Given the description of an element on the screen output the (x, y) to click on. 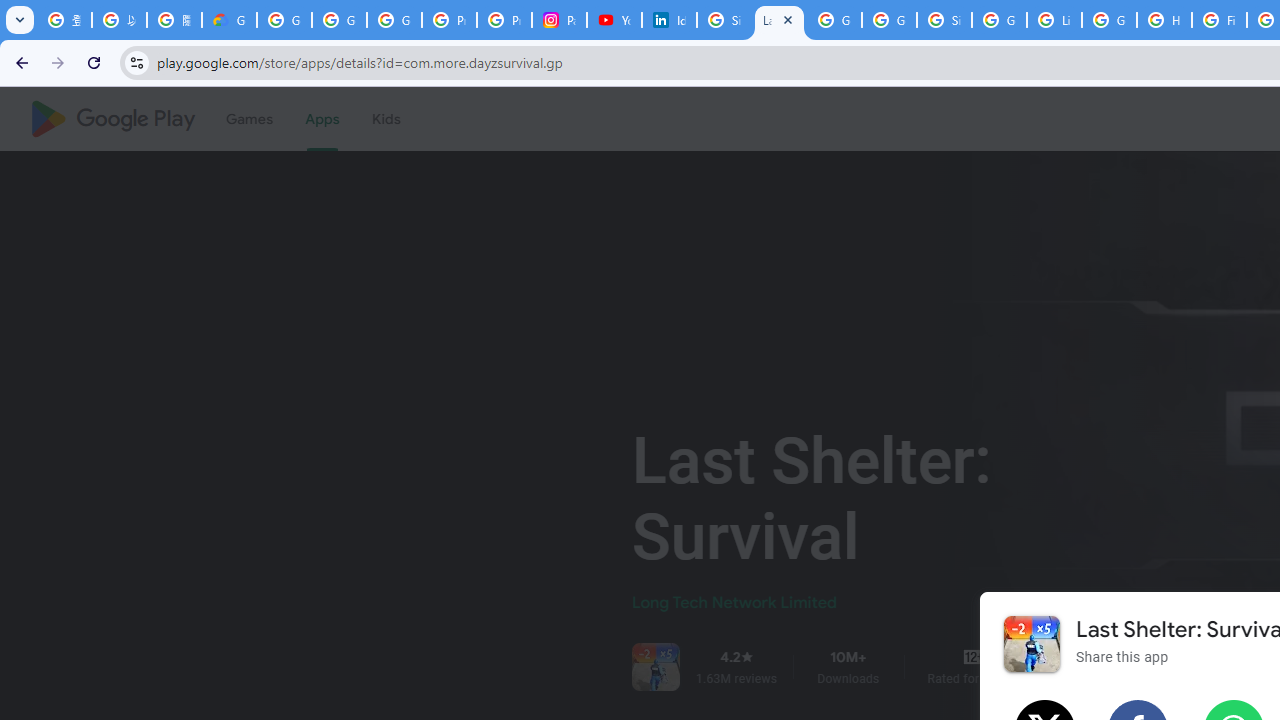
Last Shelter: Survival - Apps on Google Play (779, 20)
How do I create a new Google Account? - Google Account Help (1163, 20)
Sign in - Google Accounts (943, 20)
Google Workspace - Specific Terms (888, 20)
YouTube Culture & Trends - On The Rise: Handcam Videos (614, 20)
